Given the description of an element on the screen output the (x, y) to click on. 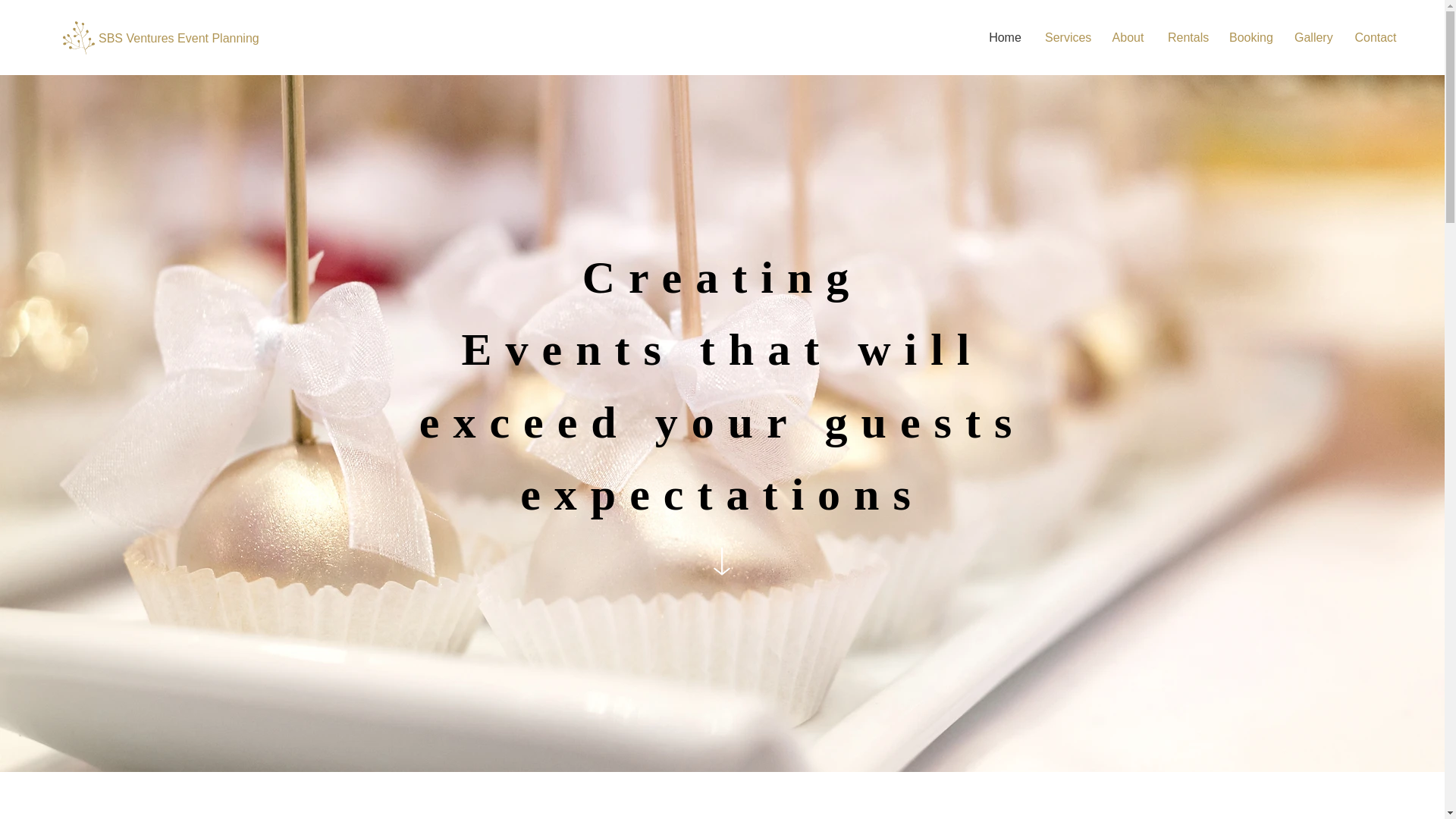
Gallery (1312, 37)
Booking (1249, 37)
Rentals (1186, 37)
SBS Ventures Event Planning (179, 38)
Home (1004, 37)
Contact (1374, 37)
Services (1066, 37)
About (1127, 37)
